Given the description of an element on the screen output the (x, y) to click on. 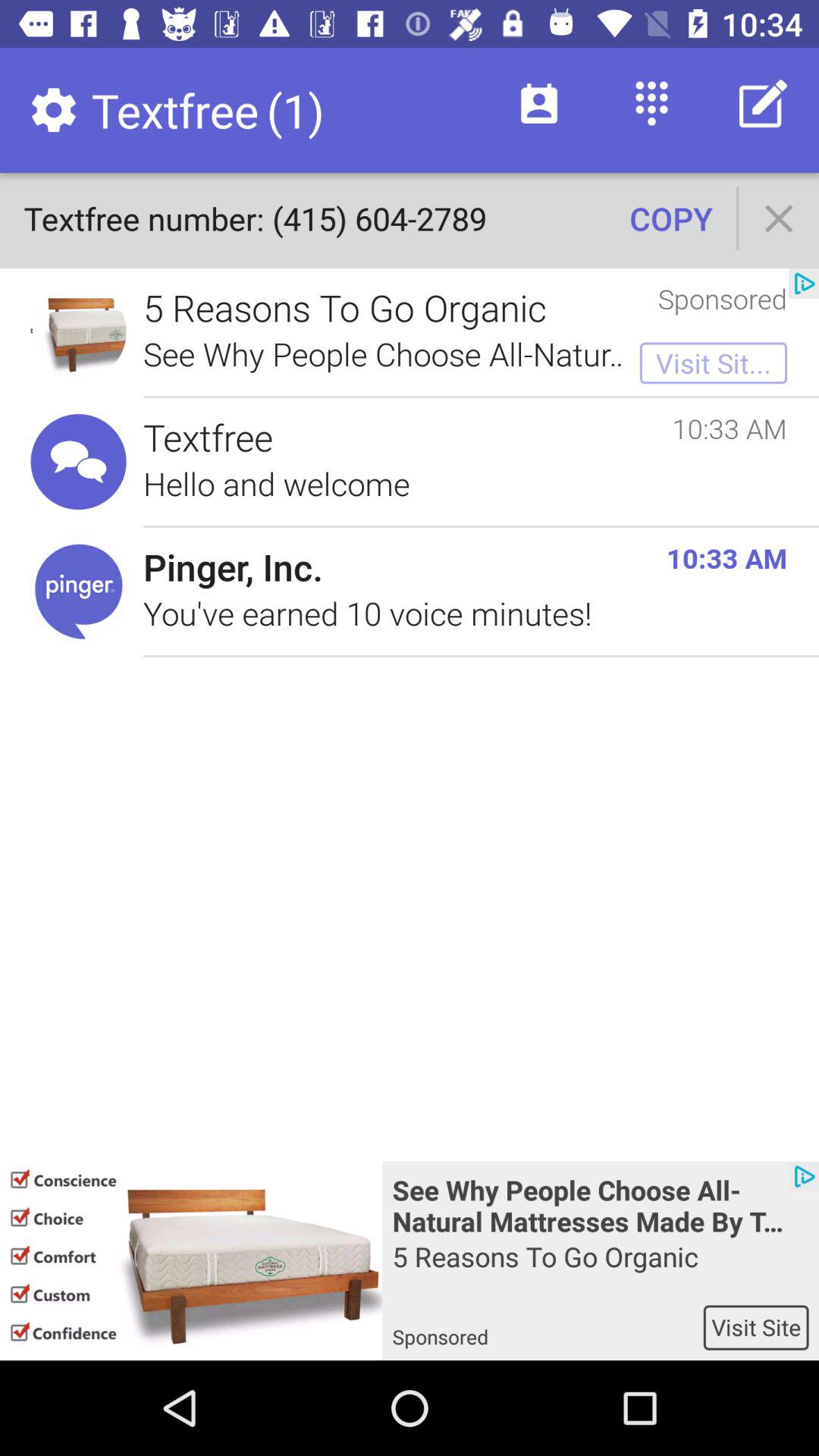
press icon at the bottom left corner (191, 1260)
